Given the description of an element on the screen output the (x, y) to click on. 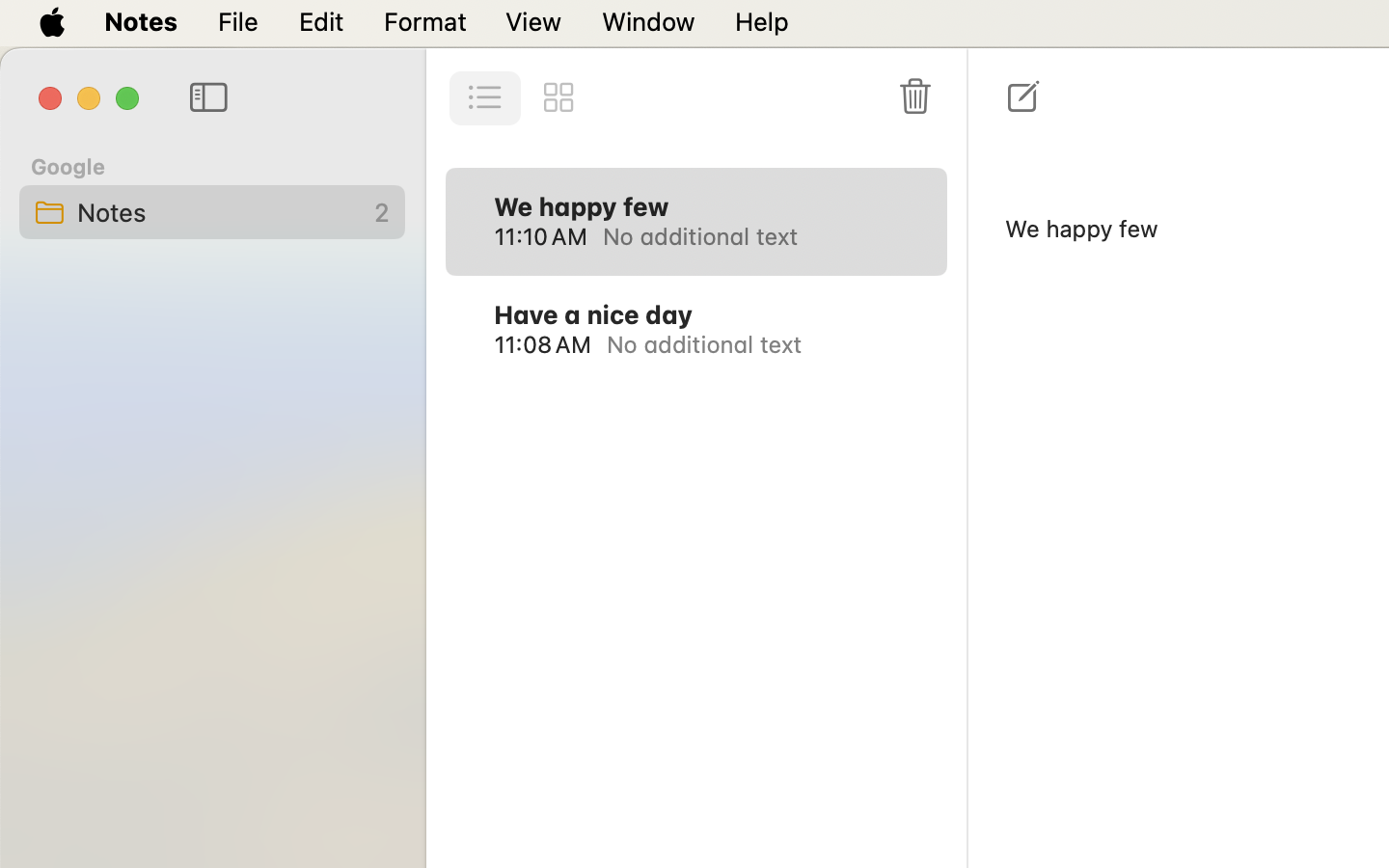
We happy few Element type: AXStaticText (581, 205)
Notes Element type: AXStaticText (211, 211)
2 Element type: AXStaticText (371, 211)
